Given the description of an element on the screen output the (x, y) to click on. 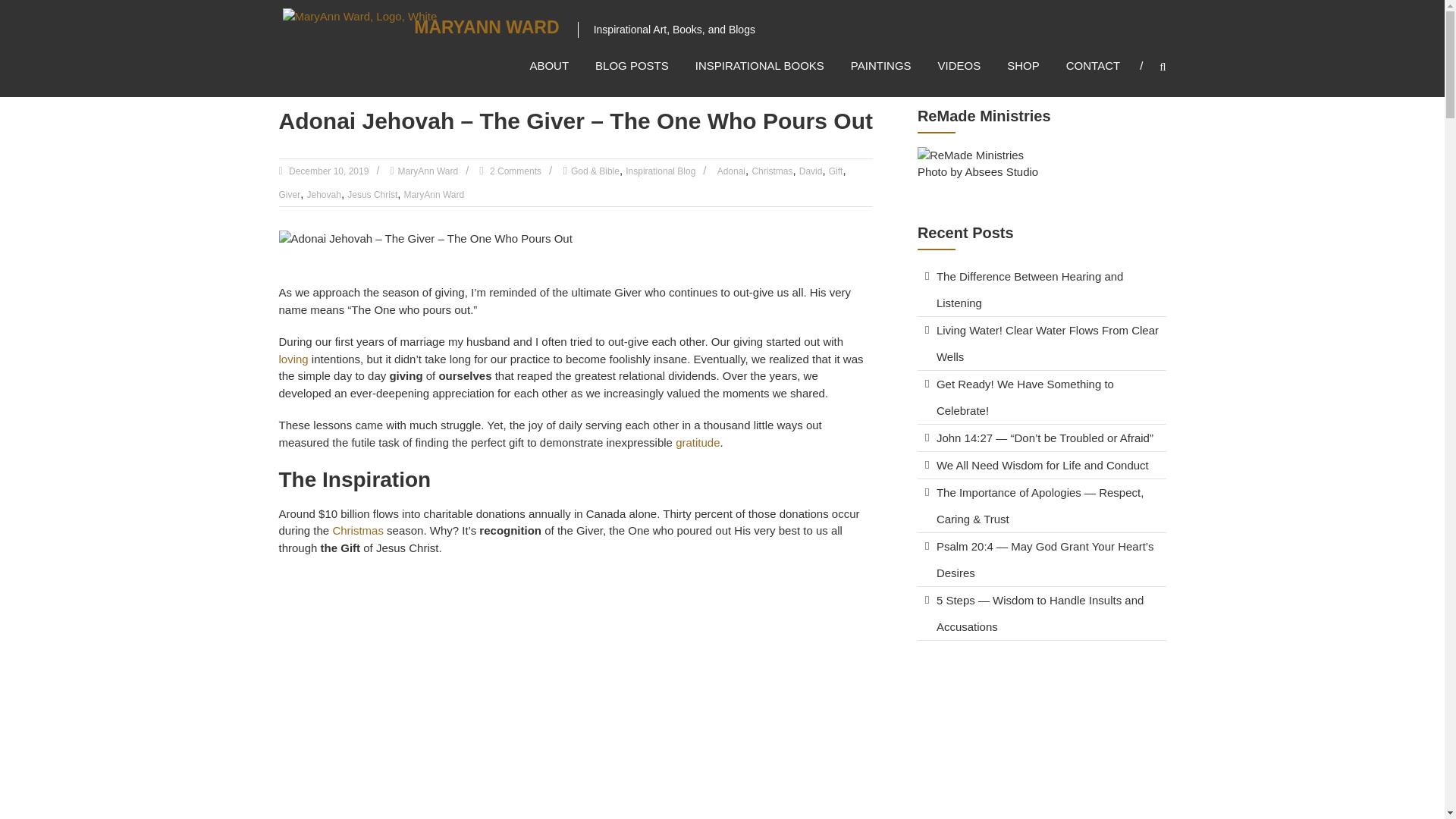
Gift (835, 171)
Maryann Ward (486, 26)
12:01 am (327, 171)
Jesus Christ (372, 194)
VIDEOS (959, 65)
PAINTINGS (880, 65)
ABOUT (549, 65)
Christmas (771, 171)
2 Comments (514, 171)
MARYANN WARD (486, 26)
INSPIRATIONAL BOOKS (759, 65)
MaryAnn Ward (427, 171)
December 10, 2019 (327, 171)
Jehovah (323, 194)
MaryAnn Ward (427, 171)
